Given the description of an element on the screen output the (x, y) to click on. 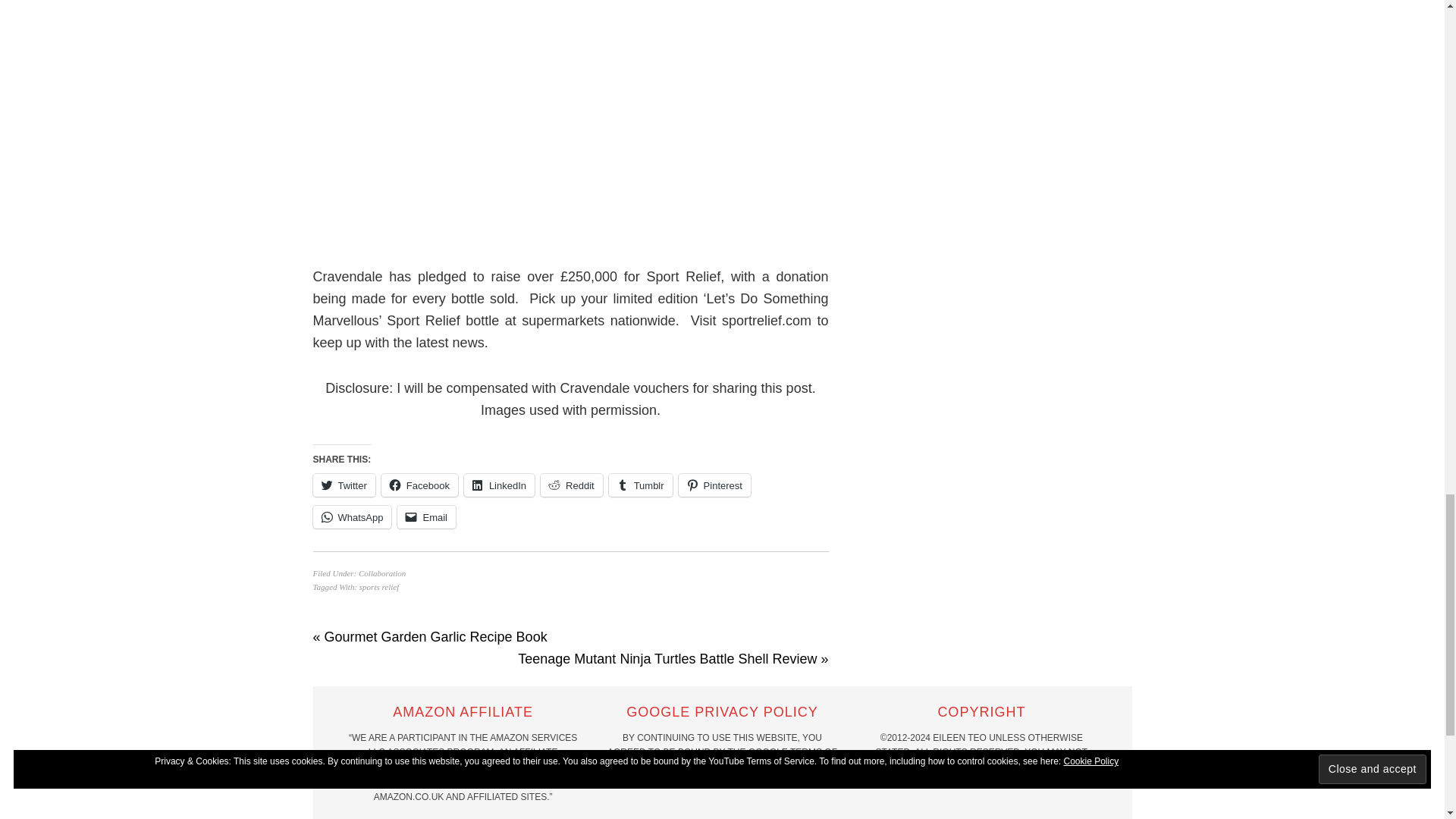
Click to share on LinkedIn (499, 485)
Click to share on Pinterest (714, 485)
Click to share on Facebook (419, 485)
Click to share on Tumblr (640, 485)
Click to share on Twitter (343, 485)
Click to share on WhatsApp (352, 517)
Click to share on Reddit (571, 485)
Click to email a link to a friend (426, 517)
